Given the description of an element on the screen output the (x, y) to click on. 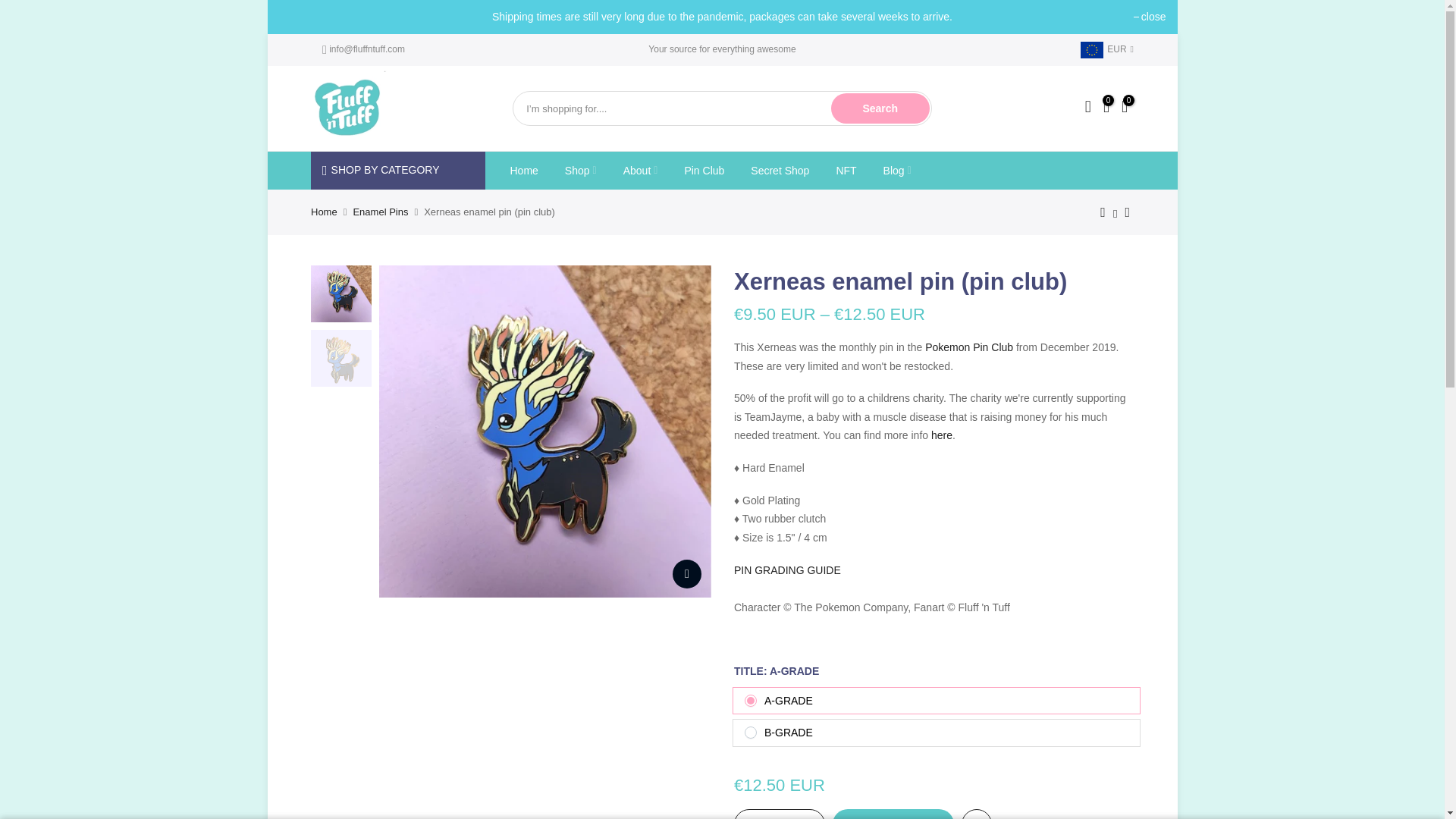
Pin grading guide (787, 570)
Search (880, 108)
1 (778, 814)
Charity (941, 435)
close (1150, 16)
